Given the description of an element on the screen output the (x, y) to click on. 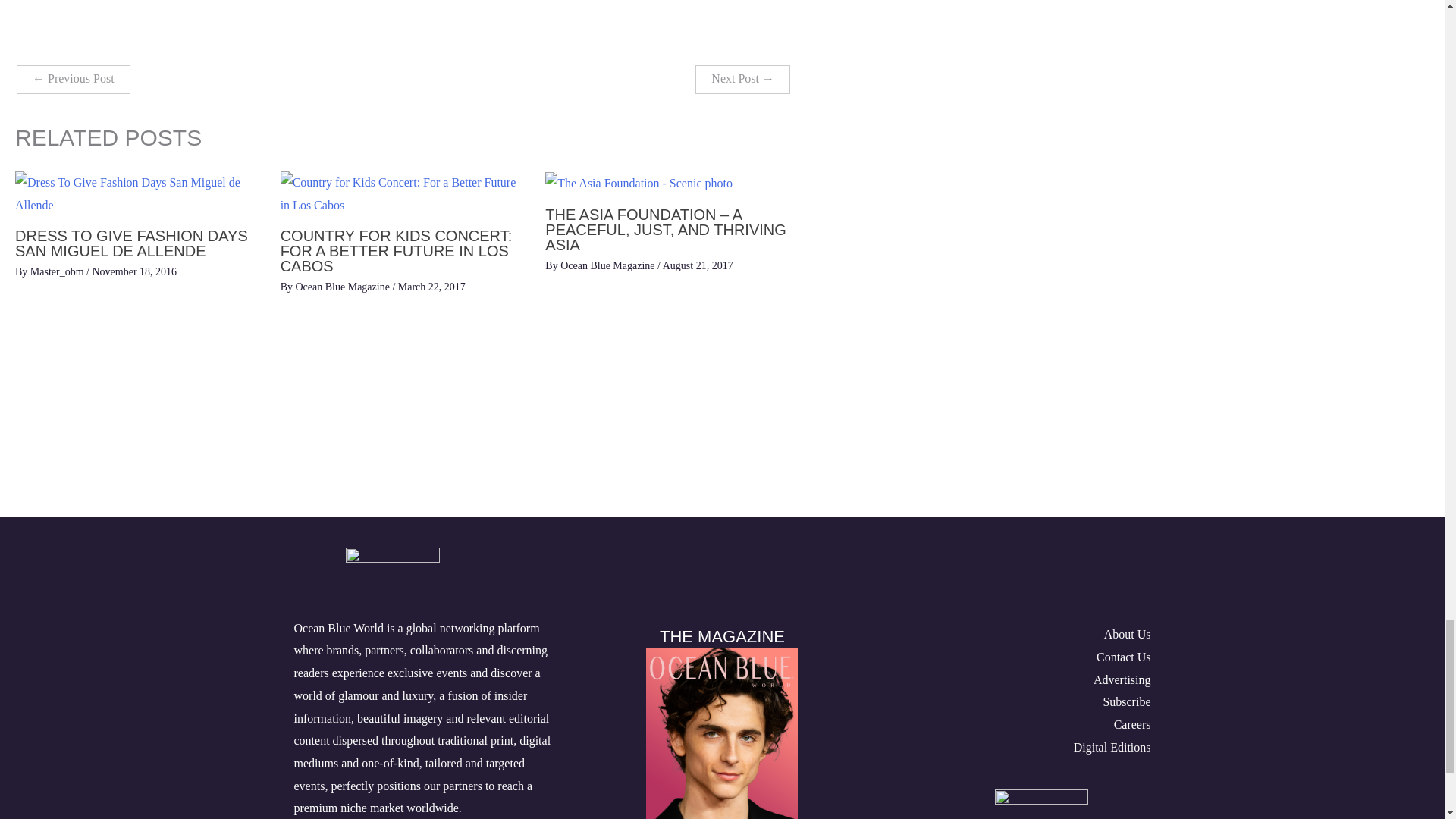
View all posts by Ocean Blue Magazine (344, 286)
View all posts by Ocean Blue Magazine (609, 265)
He is Bruno MarsVELOUS (742, 79)
Contemporary Living in the Tuscan Hills (73, 79)
